Given the description of an element on the screen output the (x, y) to click on. 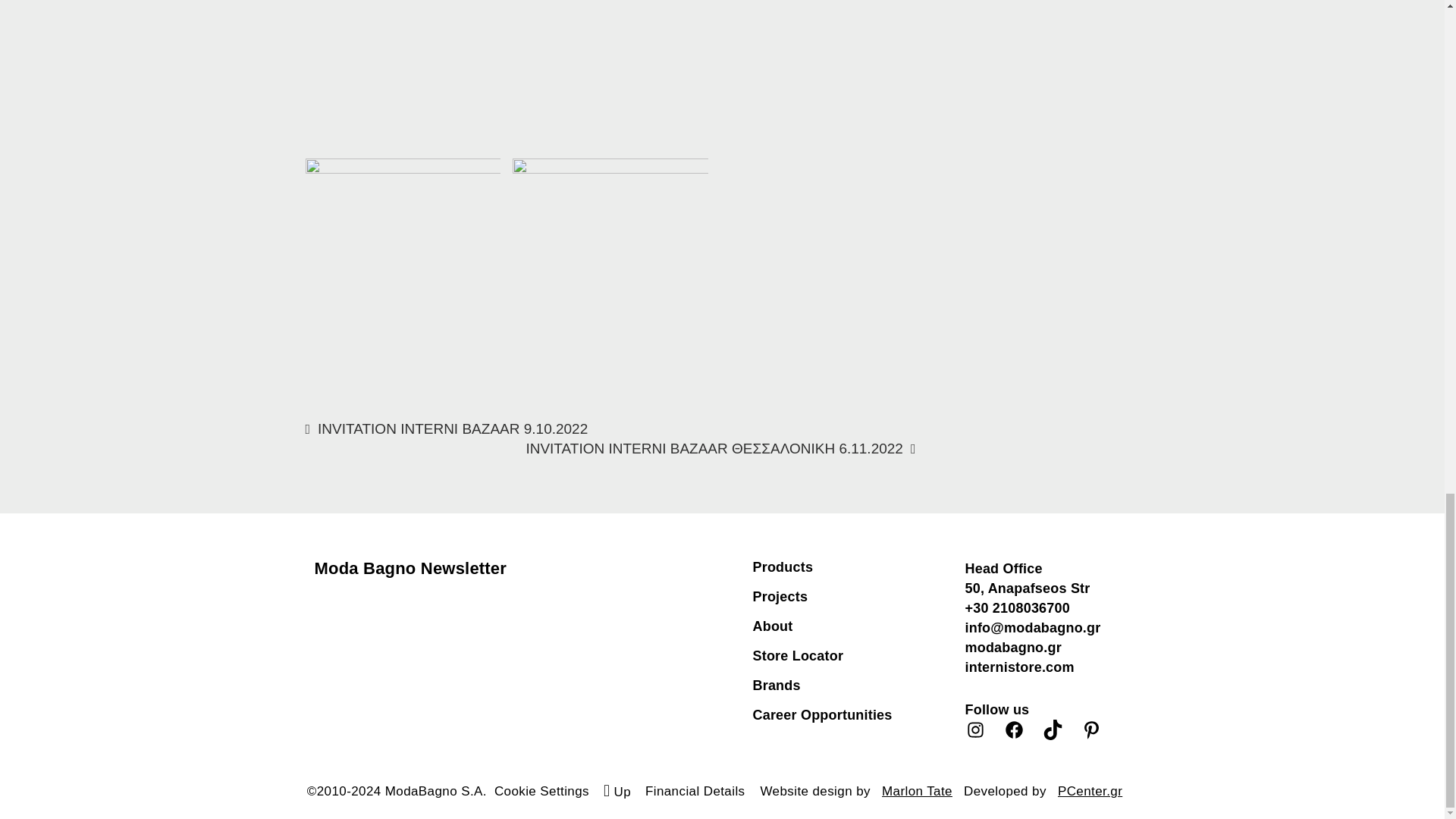
051022-06 (610, 73)
051022-08 (402, 256)
051022-09 (818, 74)
051022-05 (402, 73)
051022-07 (610, 223)
